Given the description of an element on the screen output the (x, y) to click on. 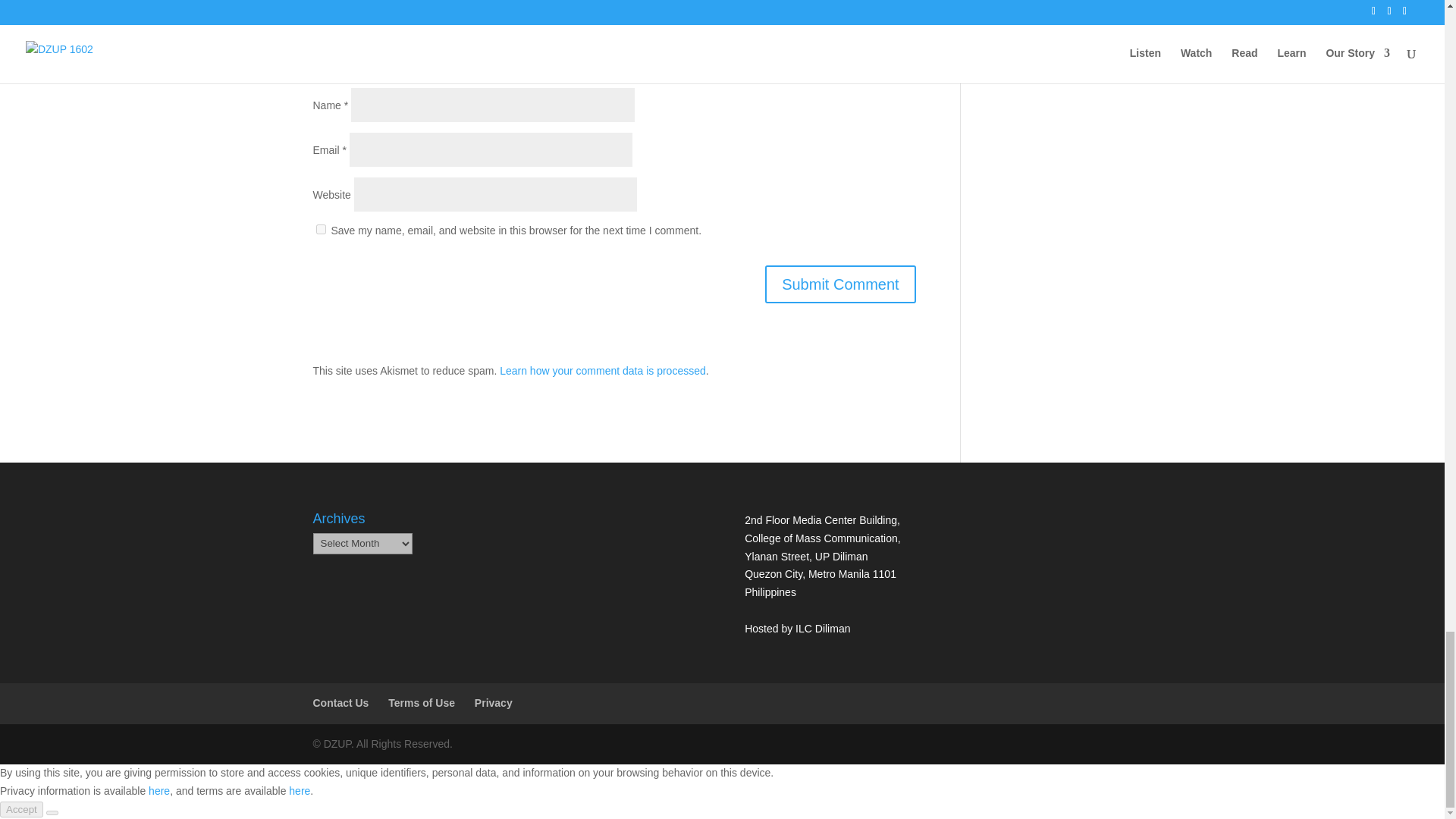
Submit Comment (840, 284)
Submit Comment (840, 284)
yes (319, 229)
Learn how your comment data is processed (602, 370)
